Given the description of an element on the screen output the (x, y) to click on. 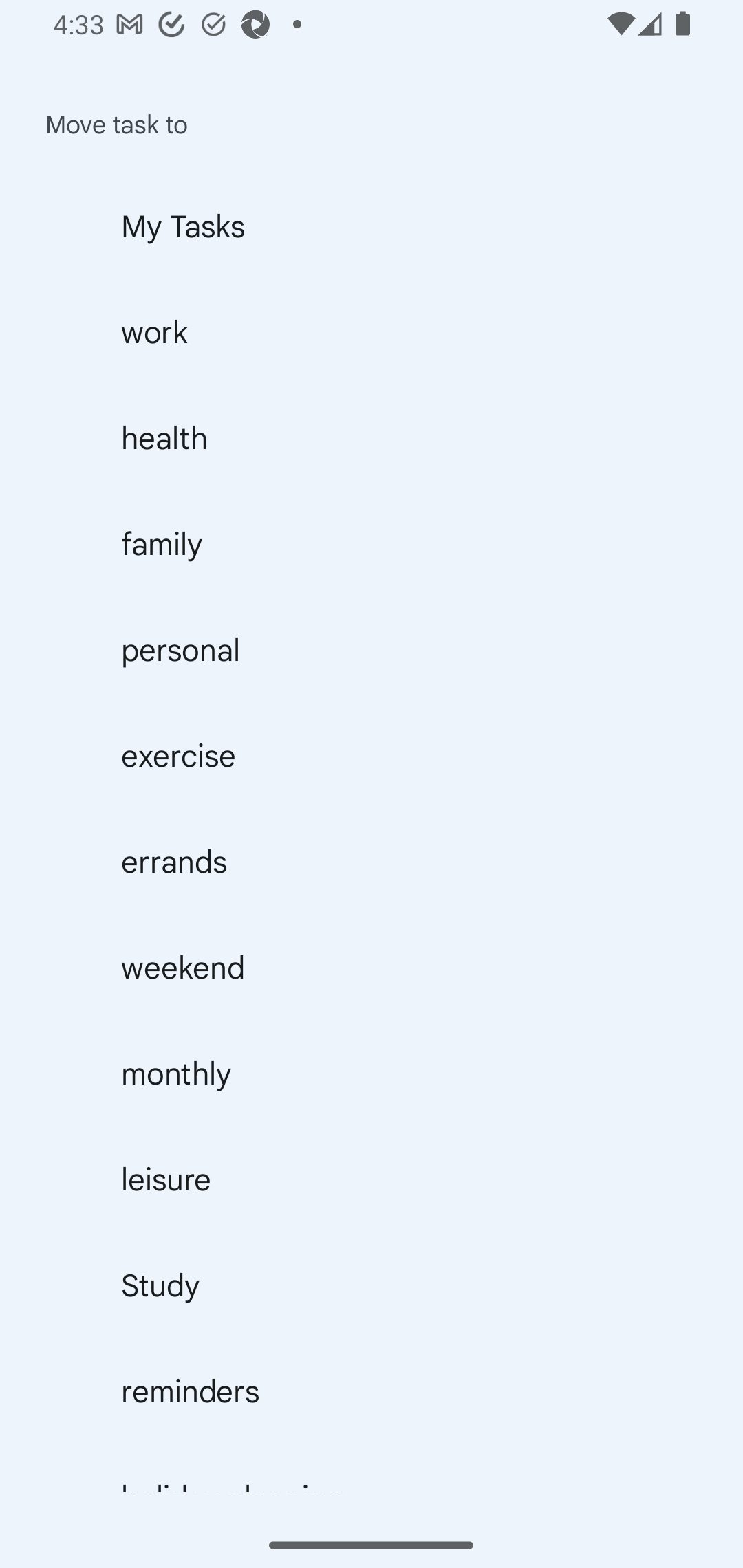
My Tasks (371, 226)
work (371, 332)
health (371, 437)
family (371, 543)
personal (371, 649)
exercise (371, 755)
errands (371, 861)
weekend (371, 967)
monthly (371, 1072)
leisure (371, 1178)
Study (371, 1285)
reminders (371, 1391)
